Given the description of an element on the screen output the (x, y) to click on. 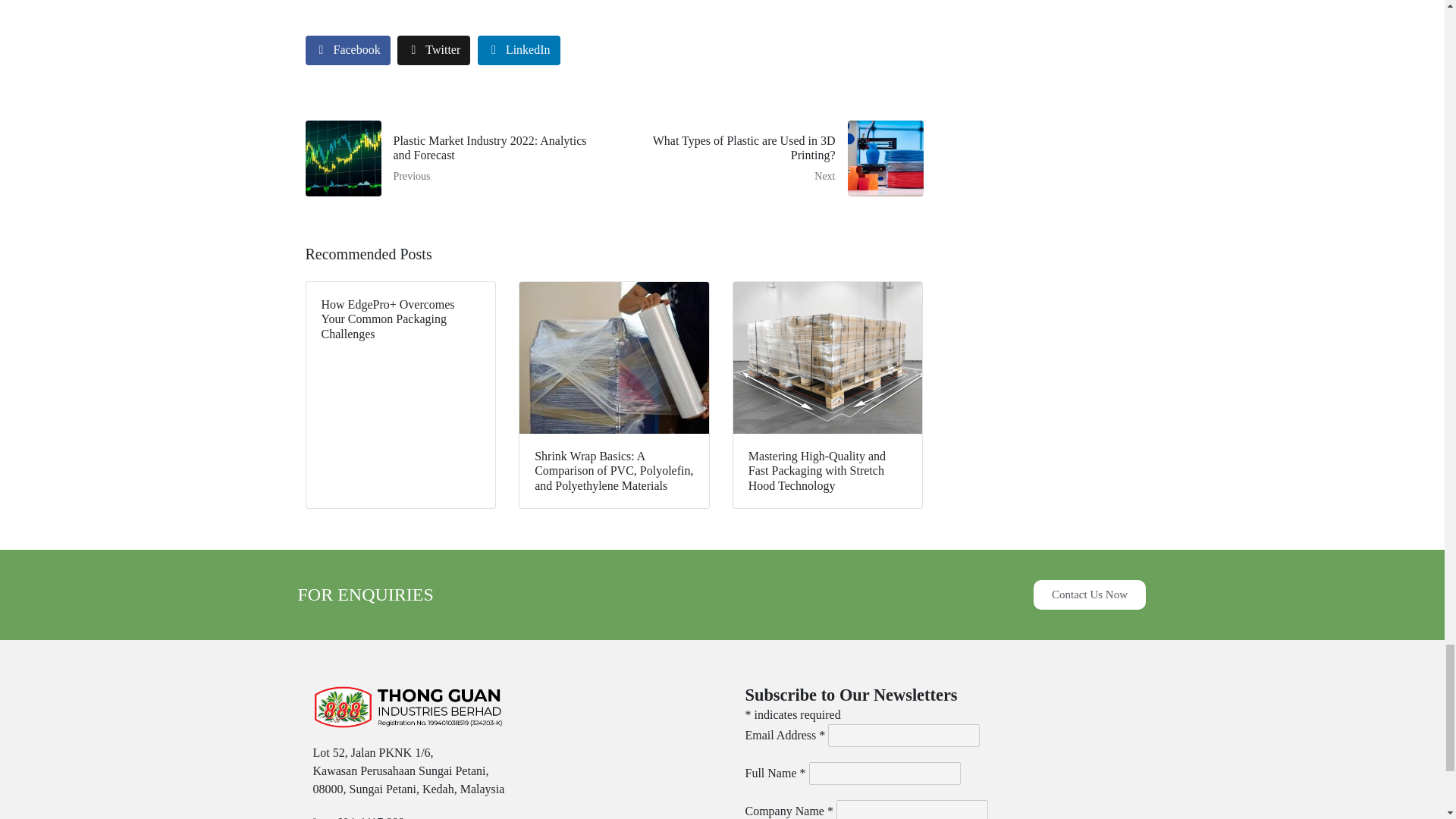
Plastic Market Industry 2022: Analytics and Forecast (454, 158)
What Types of Plastic are Used in 3D Printing? (774, 158)
